Given the description of an element on the screen output the (x, y) to click on. 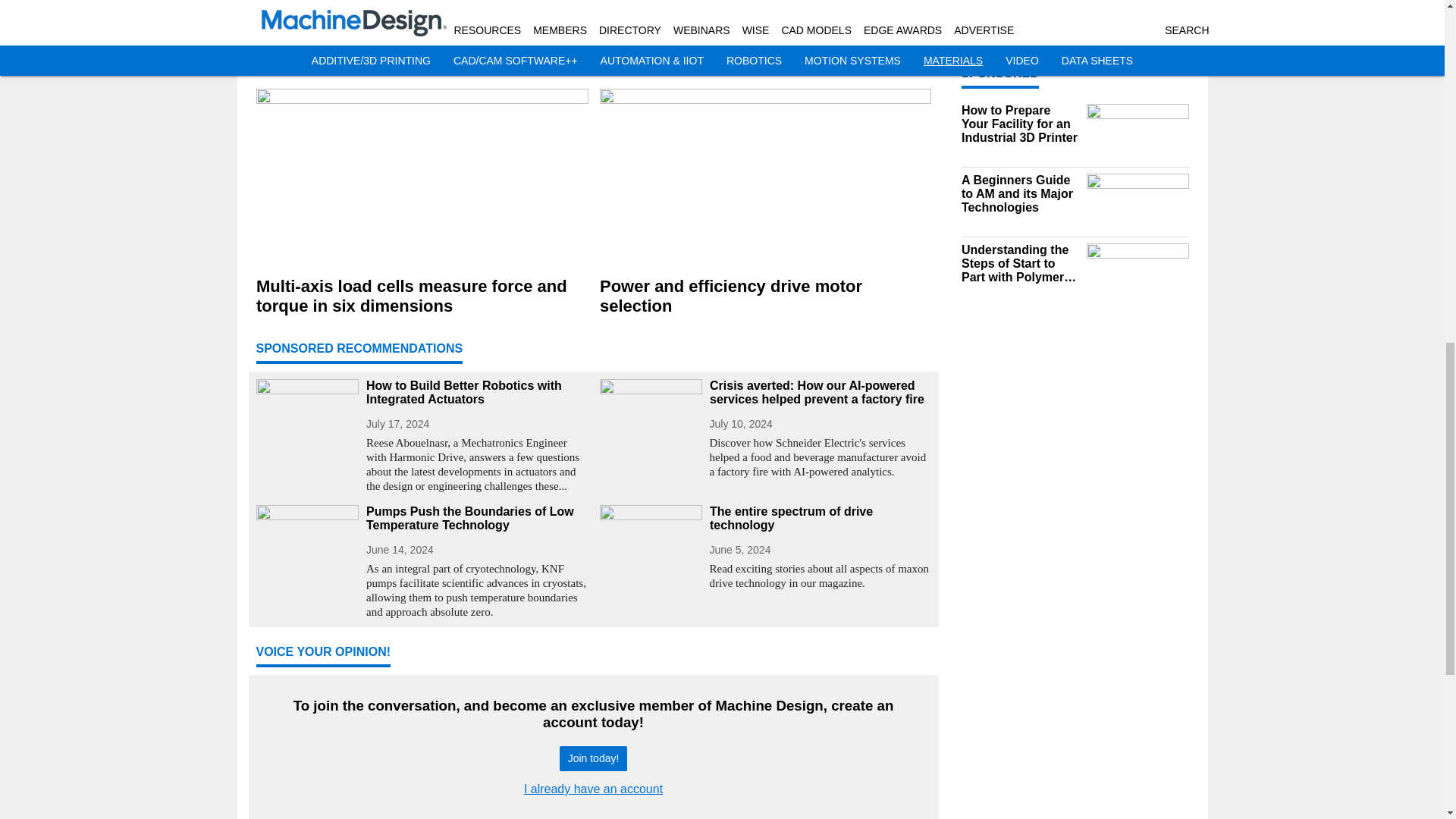
How to Build Better Robotics with Integrated Actuators (476, 392)
Power and efficiency drive motor selection (764, 296)
Facebook (595, 13)
Pumps Push the Boundaries of Low Temperature Technology (476, 518)
LinkedIn (772, 13)
